Given the description of an element on the screen output the (x, y) to click on. 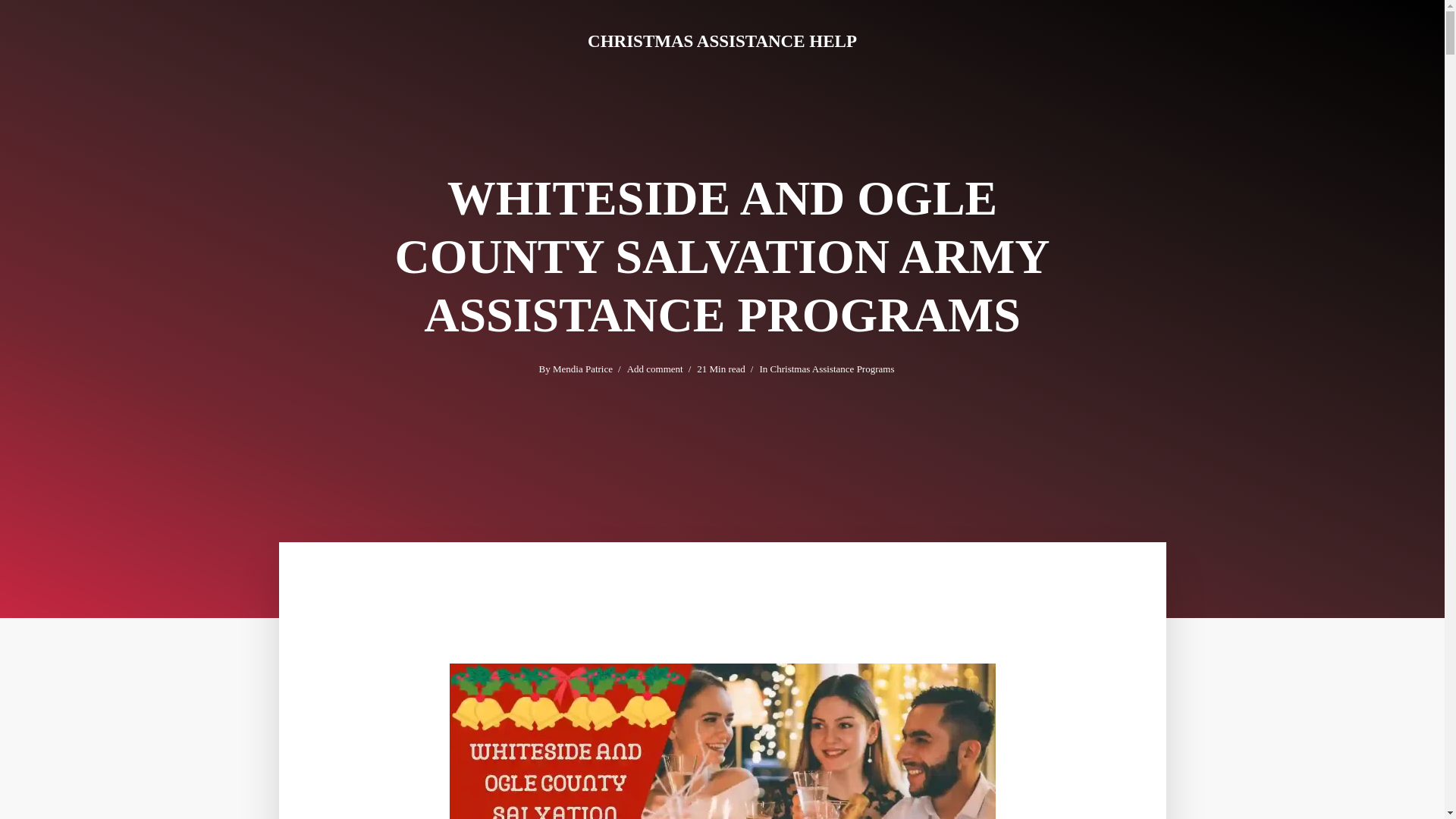
CHRISTMAS ASSISTANCE HELP (722, 40)
Christmas Assistance Programs (832, 370)
Mendia Patrice (582, 370)
Add comment (654, 370)
